Given the description of an element on the screen output the (x, y) to click on. 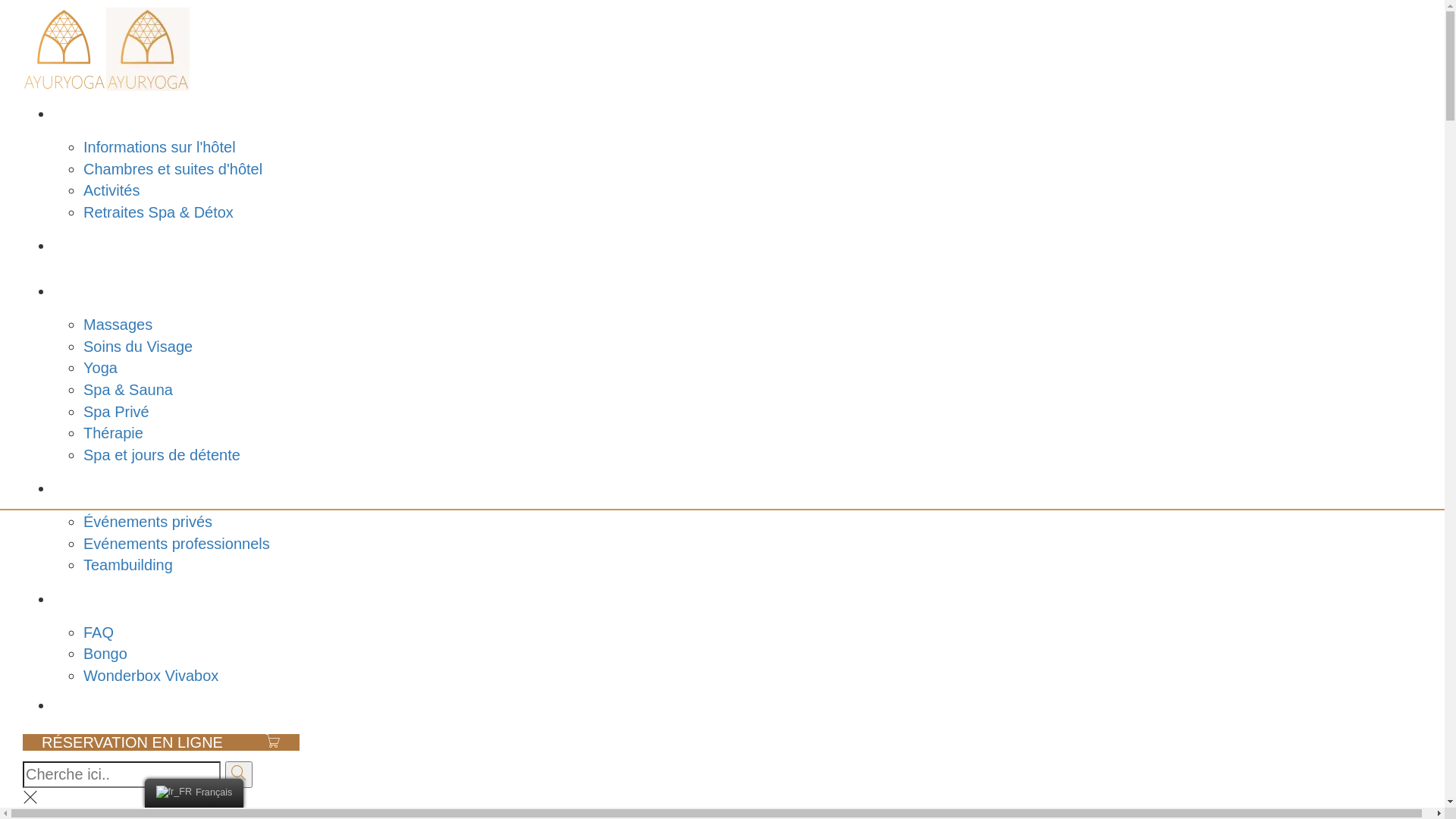
FAQ Element type: text (67, 598)
Soins du Visage Element type: text (137, 346)
Wonderbox Vivabox Element type: text (150, 675)
Bongo Element type: text (105, 653)
RESTAURANT Element type: text (102, 245)
Teambuilding Element type: text (127, 564)
FAQ Element type: text (98, 632)
Massages Element type: text (117, 324)
Yoga Element type: text (100, 367)
Spa & Sauna Element type: text (127, 389)
